Given the description of an element on the screen output the (x, y) to click on. 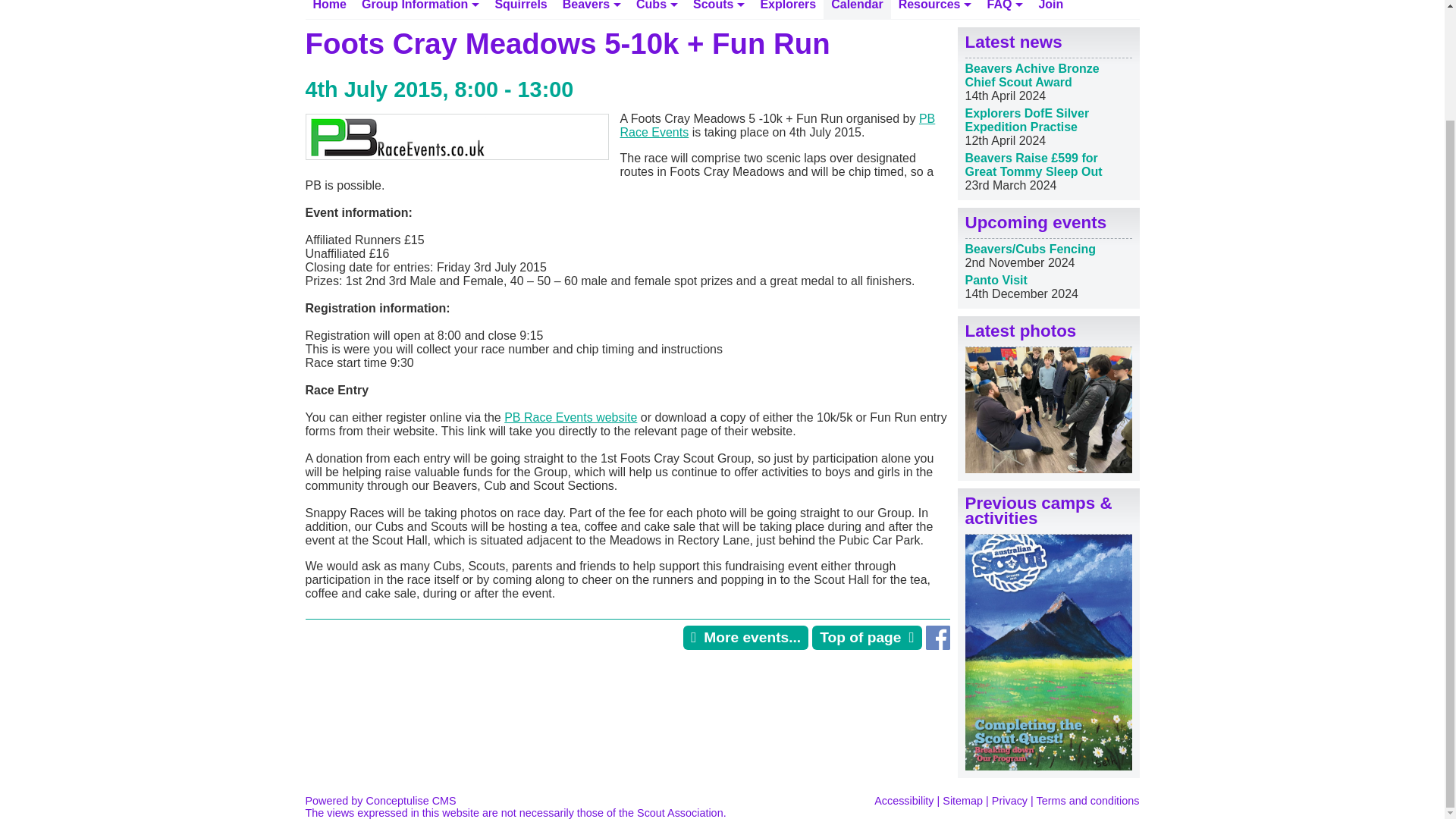
Website terms and conditions (1088, 800)
Website site map (962, 800)
Conceptulise Content Management System (379, 800)
1st Foots Cray Scout Group homepage (328, 9)
1st Foots Cray Scout Group Facebook (936, 645)
Website privacy statement (1009, 800)
Website Accessibility (904, 800)
Panto Visit (994, 279)
Explorers DofE Silver Expedition Practise (1026, 120)
Beavers Achive Bronze Chief Scout Award (1031, 75)
